Given the description of an element on the screen output the (x, y) to click on. 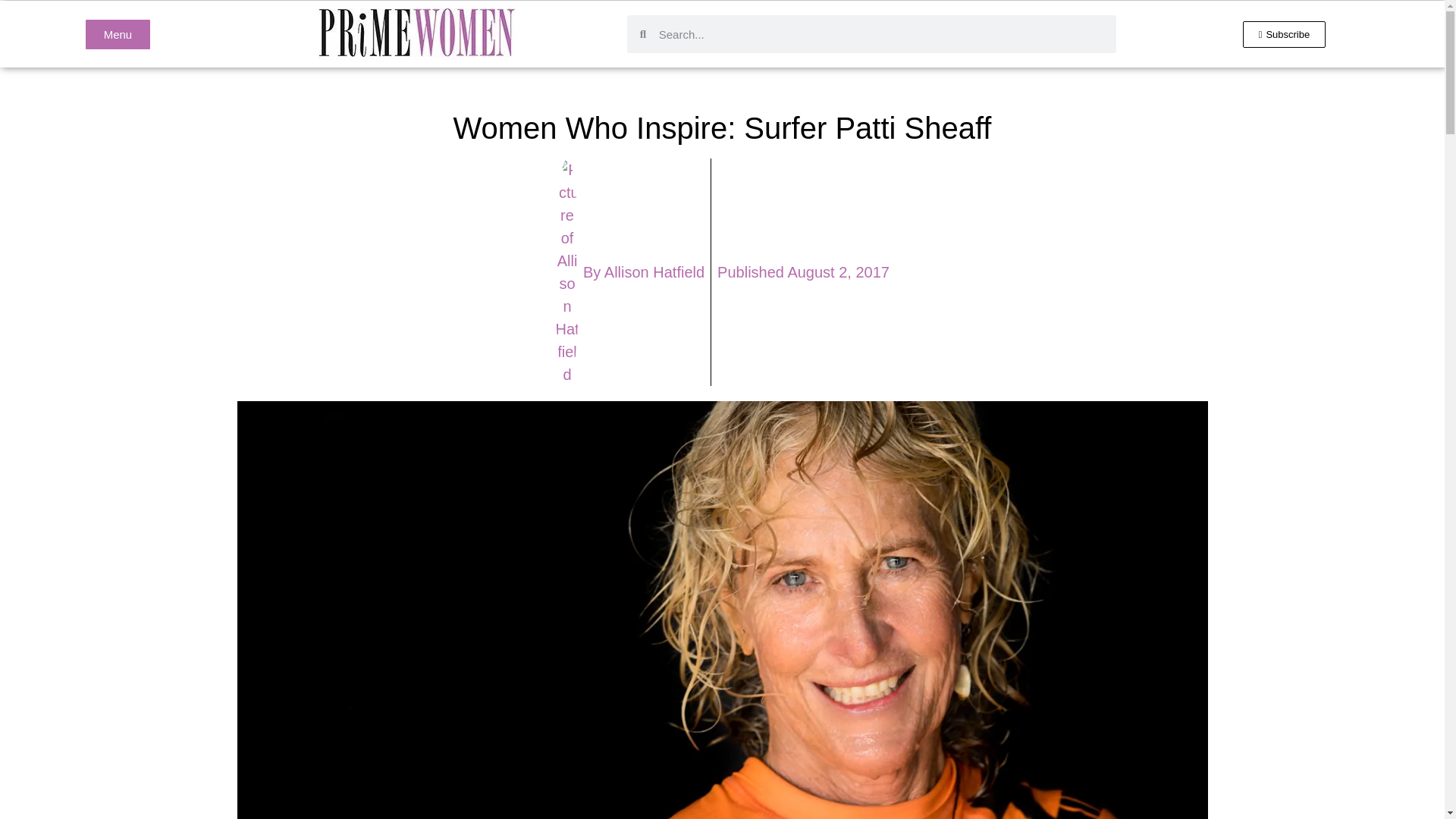
Subscribe (1284, 34)
Published August 2, 2017 (803, 272)
Menu (118, 34)
